Given the description of an element on the screen output the (x, y) to click on. 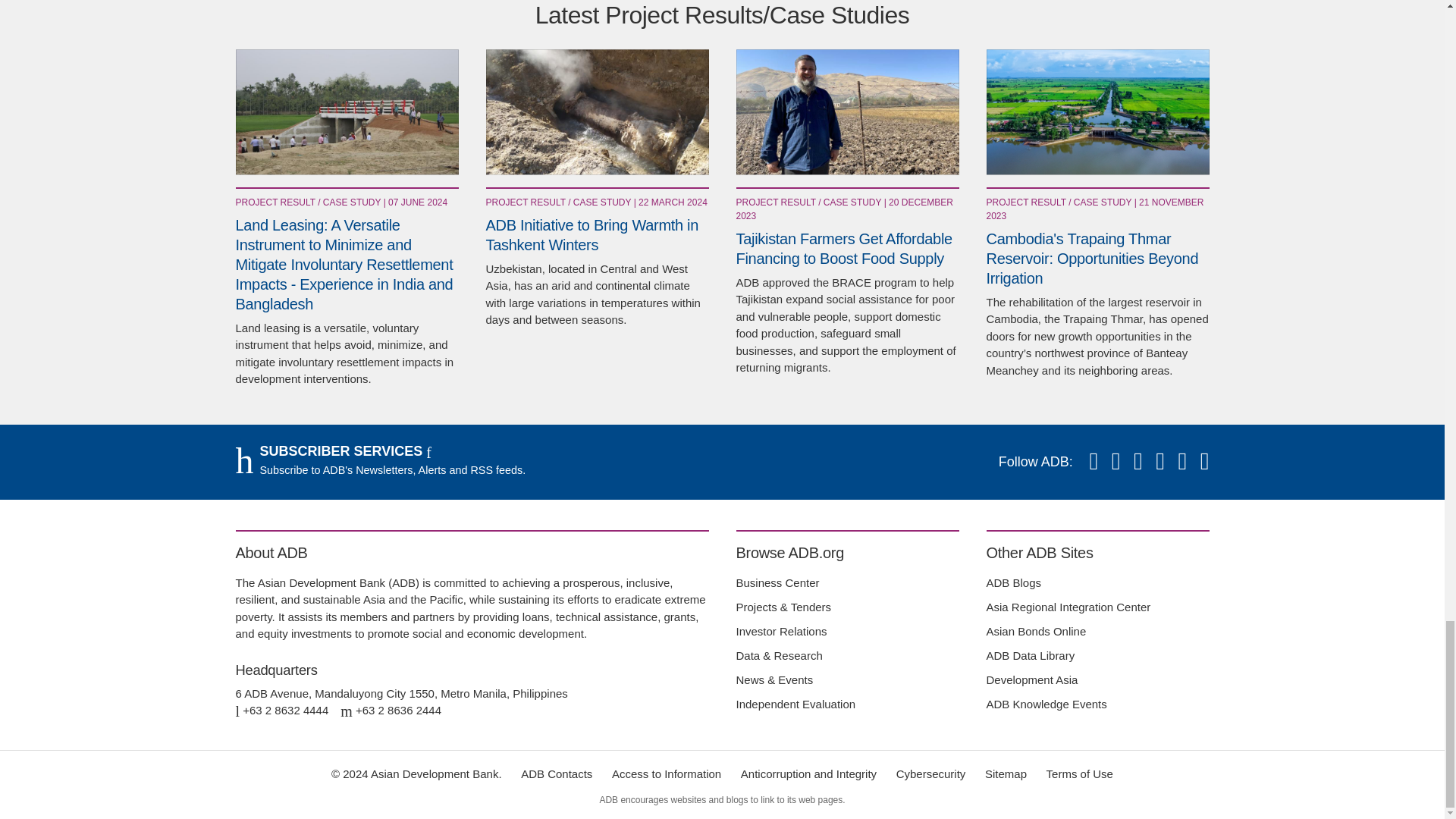
ADB Initiative to Bring Warmth in Tashkent Winters (595, 111)
